Given the description of an element on the screen output the (x, y) to click on. 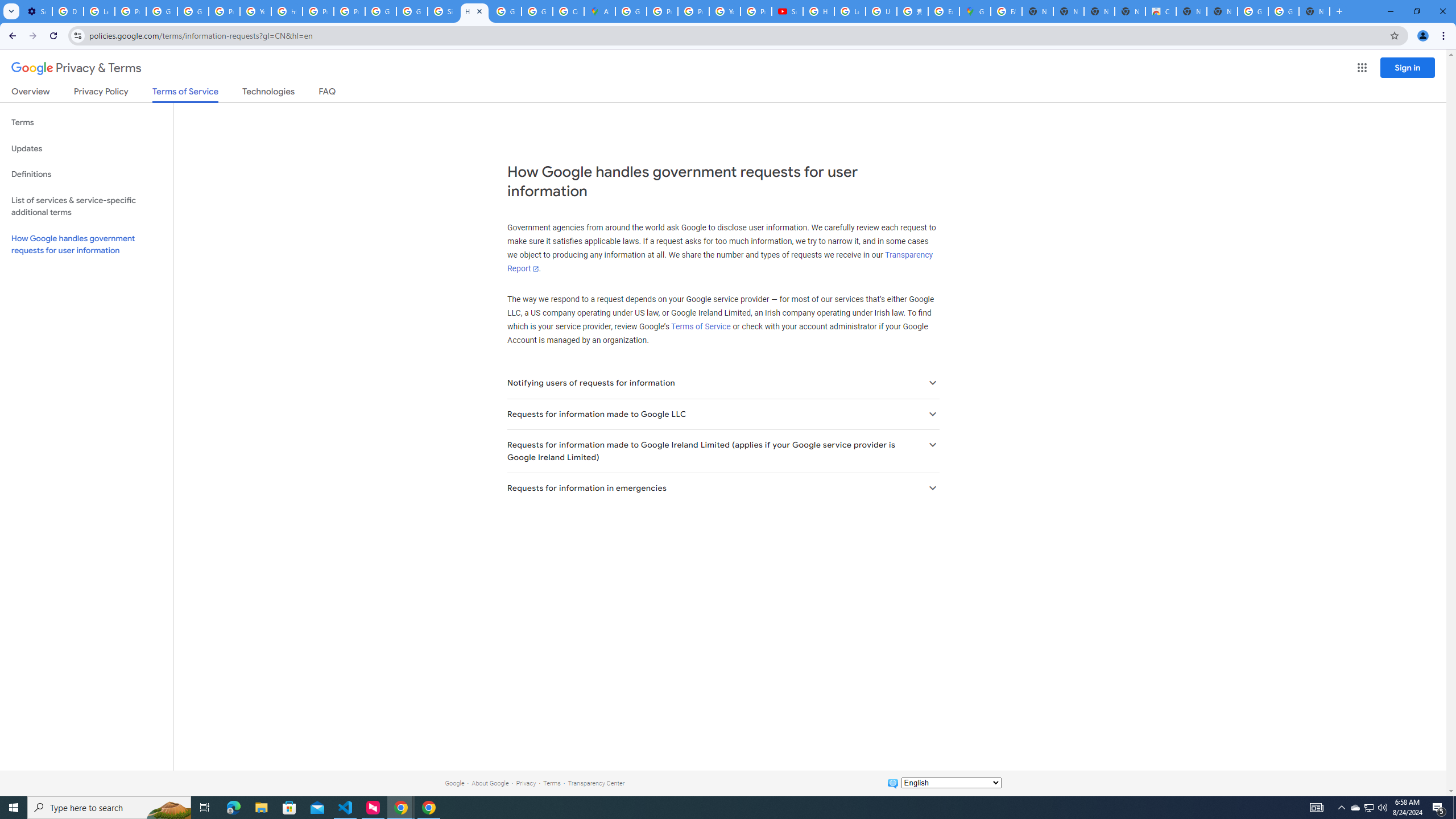
Sign in - Google Accounts (443, 11)
YouTube (724, 11)
Google Images (1283, 11)
Create your Google Account (568, 11)
Google Account Help (161, 11)
New Tab (1314, 11)
Google Images (1252, 11)
